Given the description of an element on the screen output the (x, y) to click on. 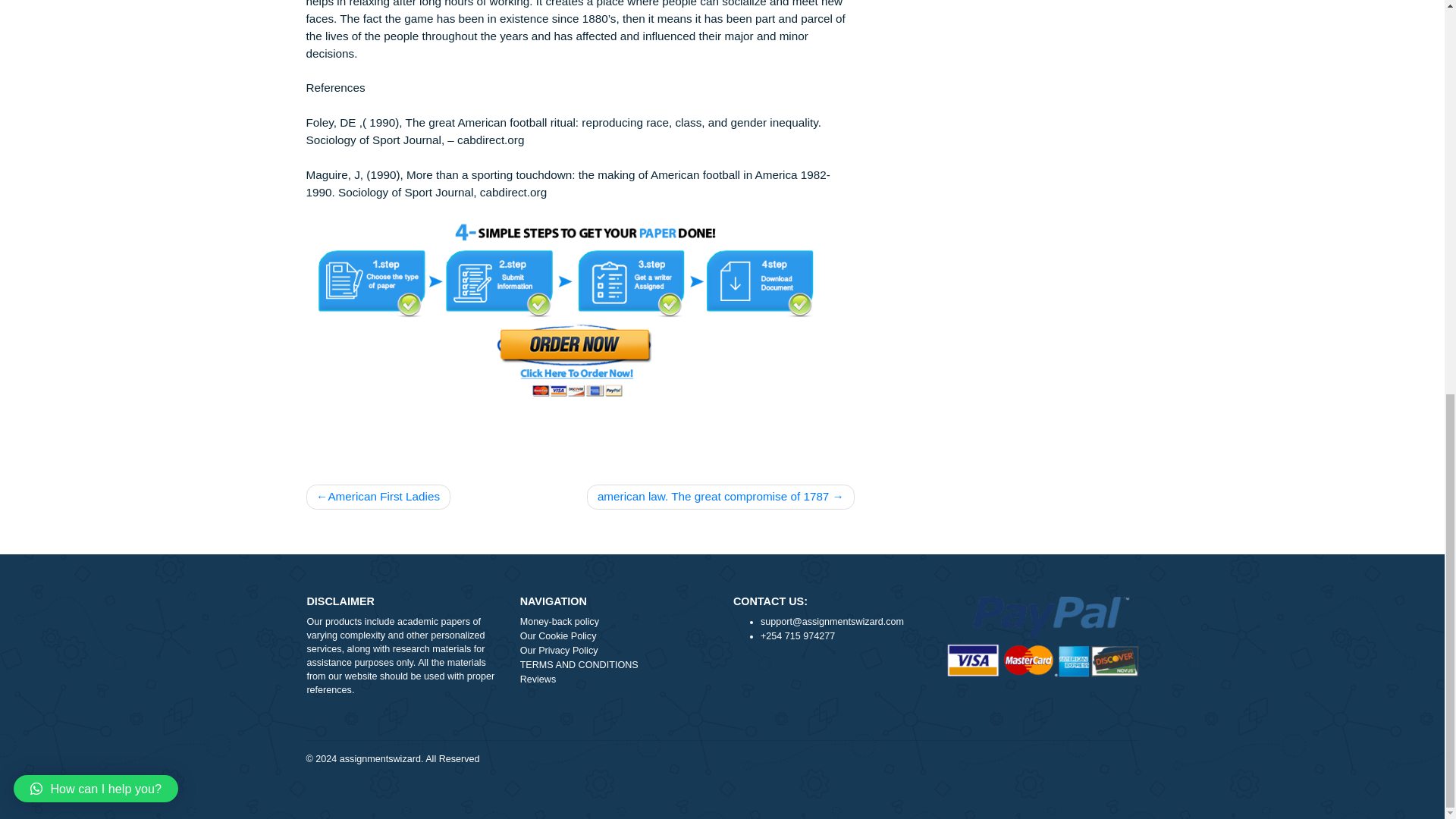
Our Cookie Policy (685, 791)
Our Privacy Policy (685, 807)
Money-back policy (685, 775)
American First Ladies (419, 635)
TERMS AND CONDITIONS (685, 817)
How can I help you? (106, 119)
american law. The great compromise of 1787 (800, 635)
